Given the description of an element on the screen output the (x, y) to click on. 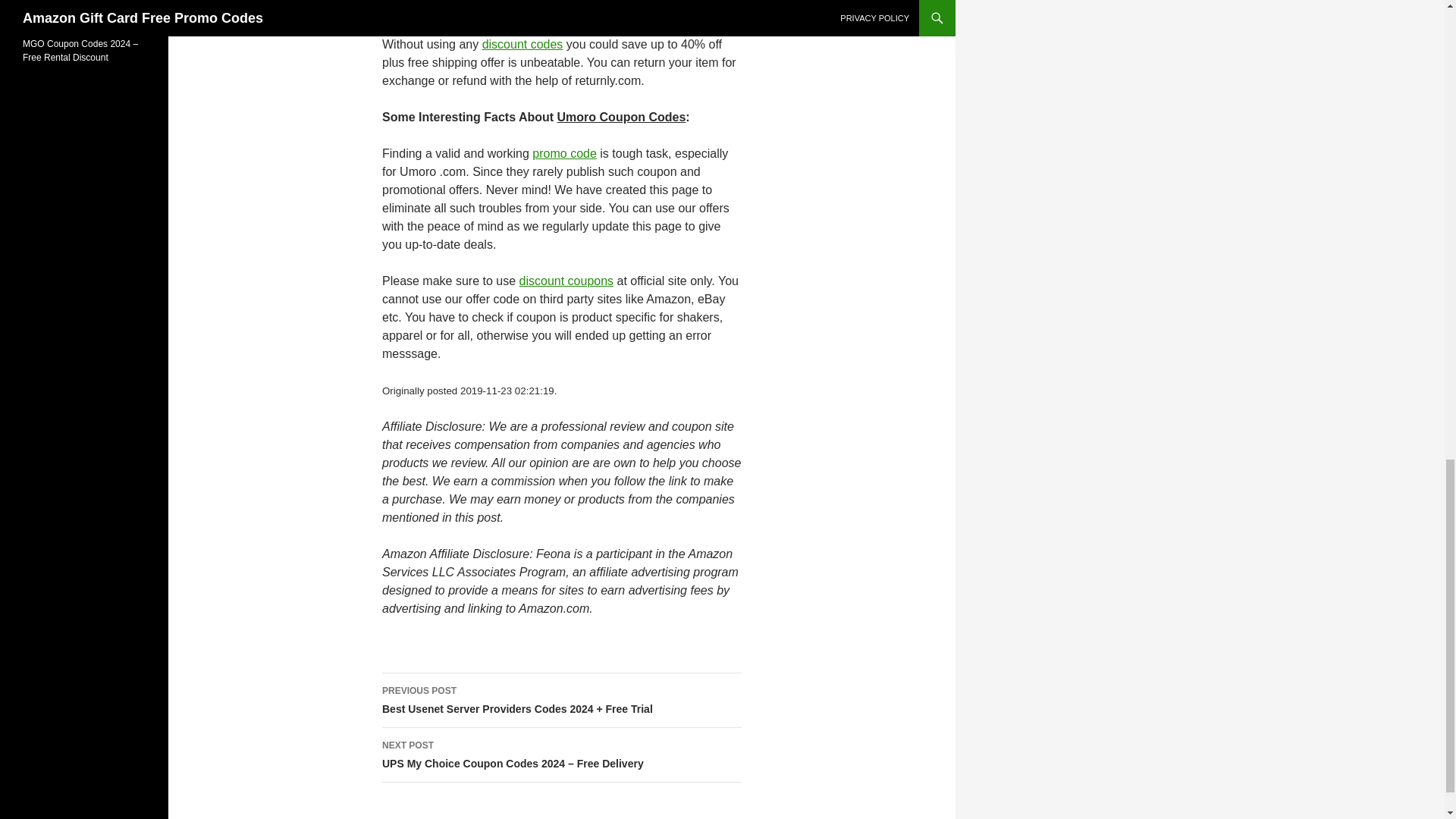
discount coupons (566, 280)
promo code (564, 153)
discount codes (522, 43)
